Given the description of an element on the screen output the (x, y) to click on. 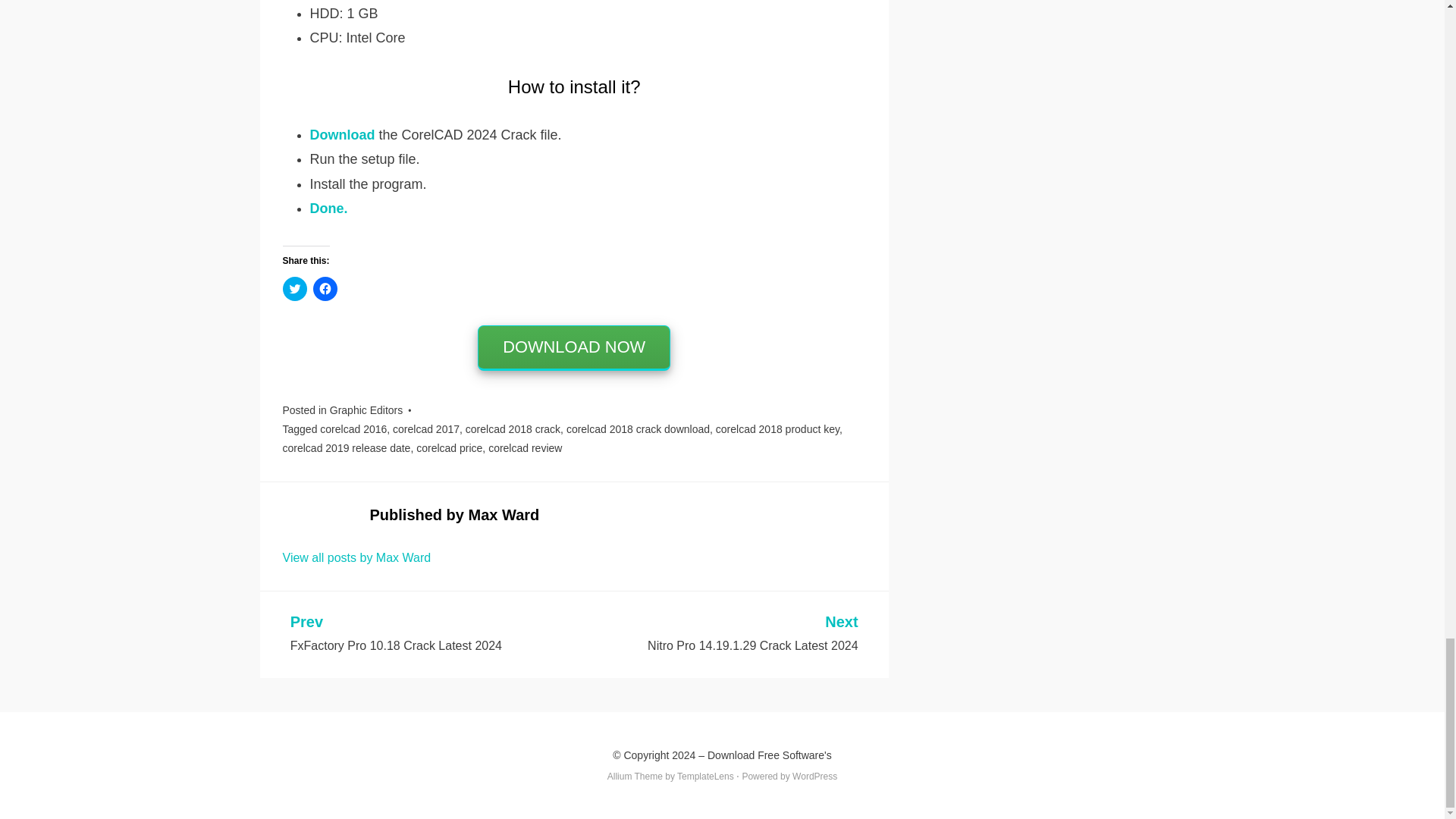
TemplateLens (705, 776)
Click to share on Facebook (324, 288)
DOWNLOAD NOW (573, 347)
Download (341, 134)
Done. (327, 208)
View all posts by Max Ward (356, 557)
WordPress (814, 776)
corelcad 2019 release date (346, 448)
corelcad 2018 crack download (638, 428)
corelcad price (448, 448)
